Given the description of an element on the screen output the (x, y) to click on. 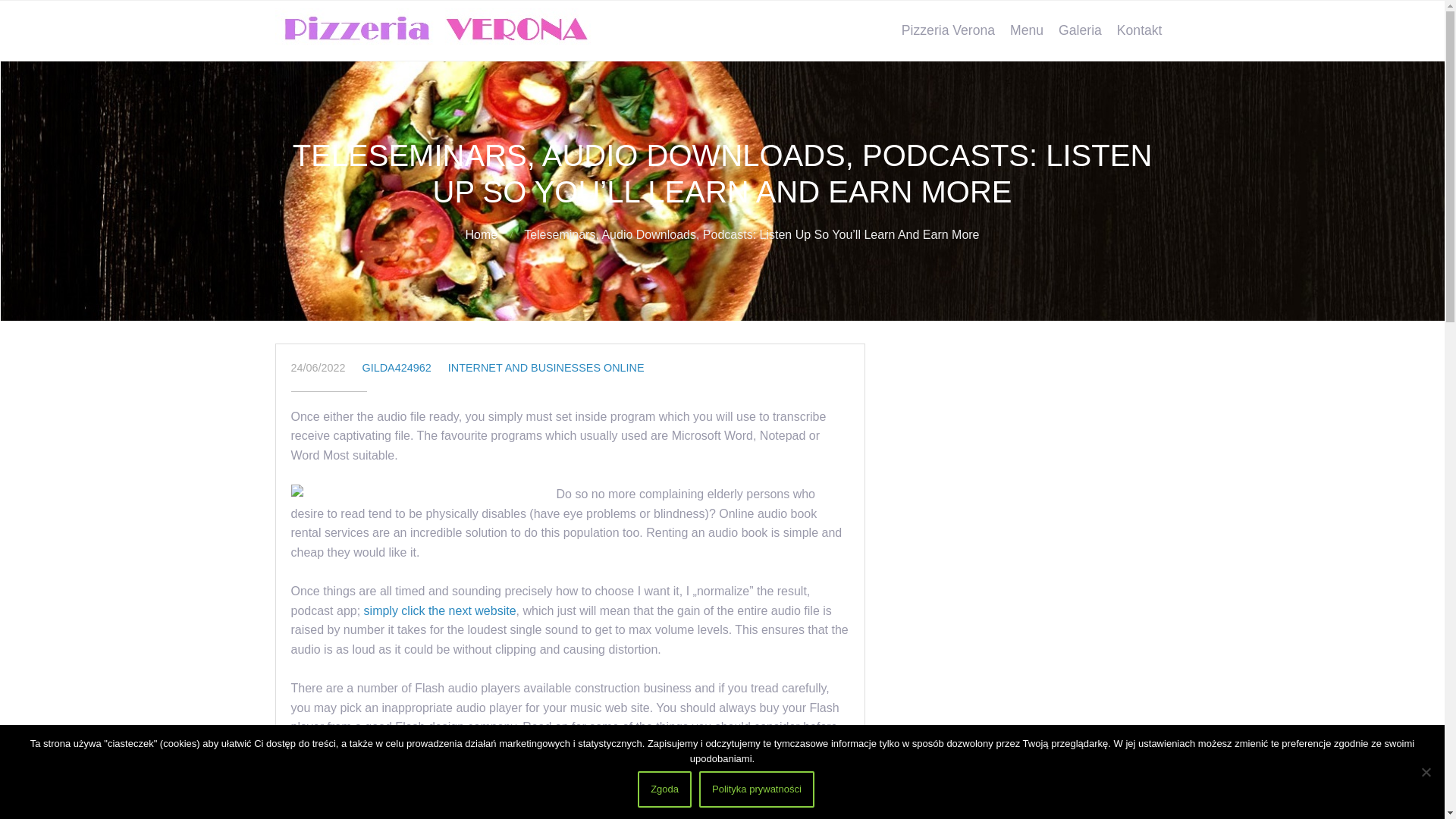
Zgoda (664, 789)
GILDA424962 (396, 367)
Kontakt (1139, 30)
Galeria (1080, 30)
View all posts by gilda424962 (396, 367)
Pizzeria Verona (948, 30)
simply click the next website (440, 610)
Home (480, 234)
INTERNET AND BUSINESSES ONLINE (546, 367)
dive located (610, 804)
Menu (1027, 30)
